Given the description of an element on the screen output the (x, y) to click on. 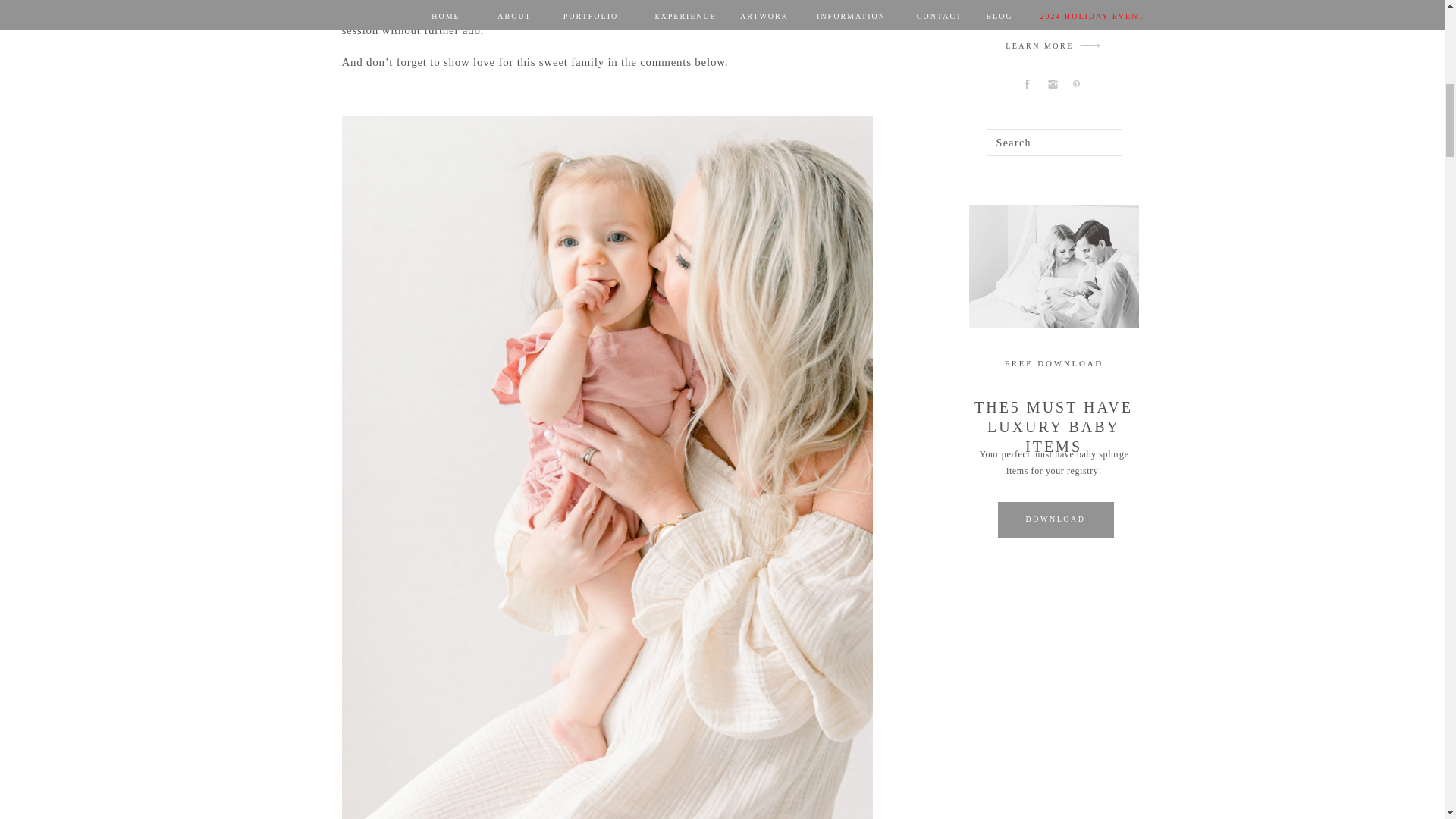
arrow (1089, 45)
arrow (1089, 45)
LEARN MORE (1039, 47)
DOWNLOAD (1054, 519)
